Given the description of an element on the screen output the (x, y) to click on. 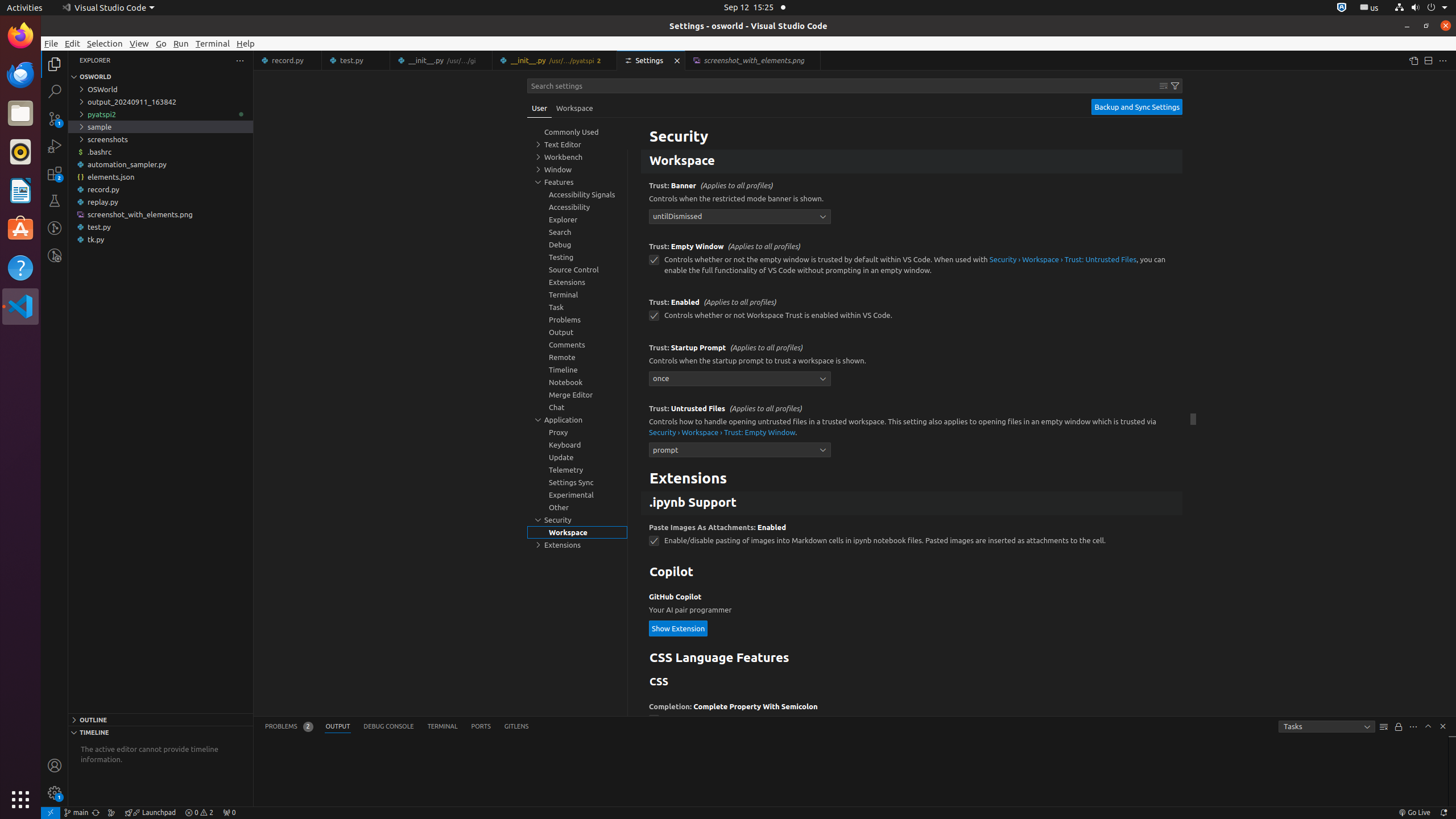
Explorer (Ctrl+Shift+E) Element type: page-tab (54, 63)
rocket gitlens-unplug Launchpad, GitLens Launchpad ᴘʀᴇᴠɪᴇᴡ    &mdash;    [$(question)](command:gitlens.launchpad.indicator.action?%22info%22 "What is this?") [$(gear)](command:workbench.action.openSettings?%22gitlens.launchpad%22 "Settings")  |  [$(circle-slash) Hide](command:gitlens.launchpad.indicator.action?%22hide%22 "Hide") --- [Launchpad](command:gitlens.launchpad.indicator.action?%info%22 "Learn about Launchpad") organizes your pull requests into actionable groups to help you focus and keep your team unblocked. It's always accessible using the `GitLens: Open Launchpad` command from the Command Palette. --- [Connect an integration](command:gitlens.showLaunchpad?%7B%22source%22%3A%22launchpad-indicator%22%7D "Connect an integration") to get started. Element type: push-button (150, 812)
replay.py Element type: tree-item (160, 201)
GitLens Element type: page-tab (516, 726)
Explorer, group Element type: tree-item (577, 219)
